Given the description of an element on the screen output the (x, y) to click on. 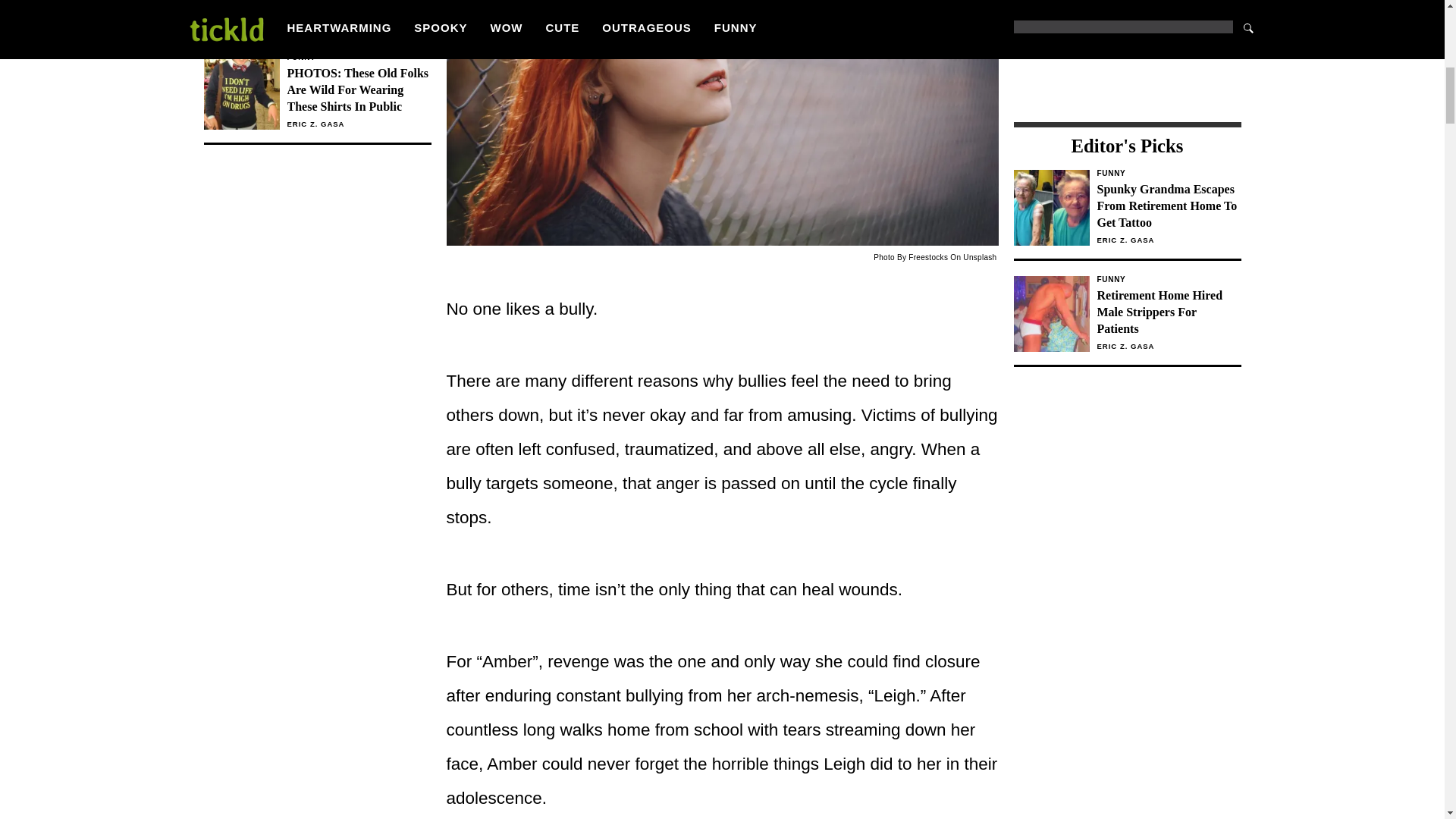
Funny (1168, 279)
Unsplash (978, 257)
Funny (1168, 173)
Spunky Grandma Escapes From Retirement Home To Get Tattoo (1168, 205)
Retirement Home Hired Male Strippers For Patients (1168, 312)
Freestocks (927, 257)
